Given the description of an element on the screen output the (x, y) to click on. 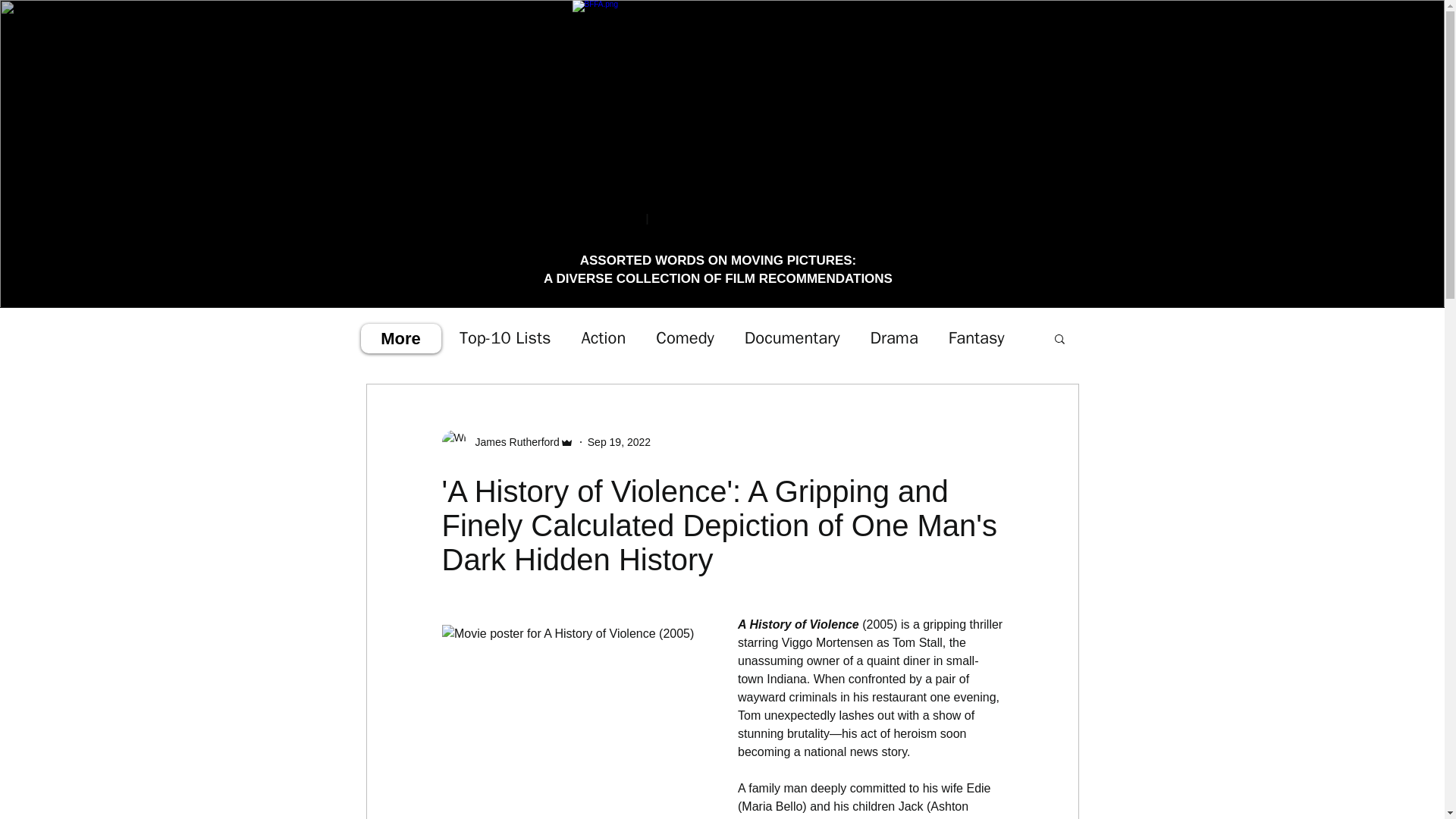
Top-10 Lists (505, 337)
Fantasy (976, 337)
Documentary (792, 337)
Comedy (684, 337)
Sep 19, 2022 (619, 441)
James Rutherford (512, 442)
Action (603, 337)
Drama (893, 337)
All Posts (397, 337)
